Given the description of an element on the screen output the (x, y) to click on. 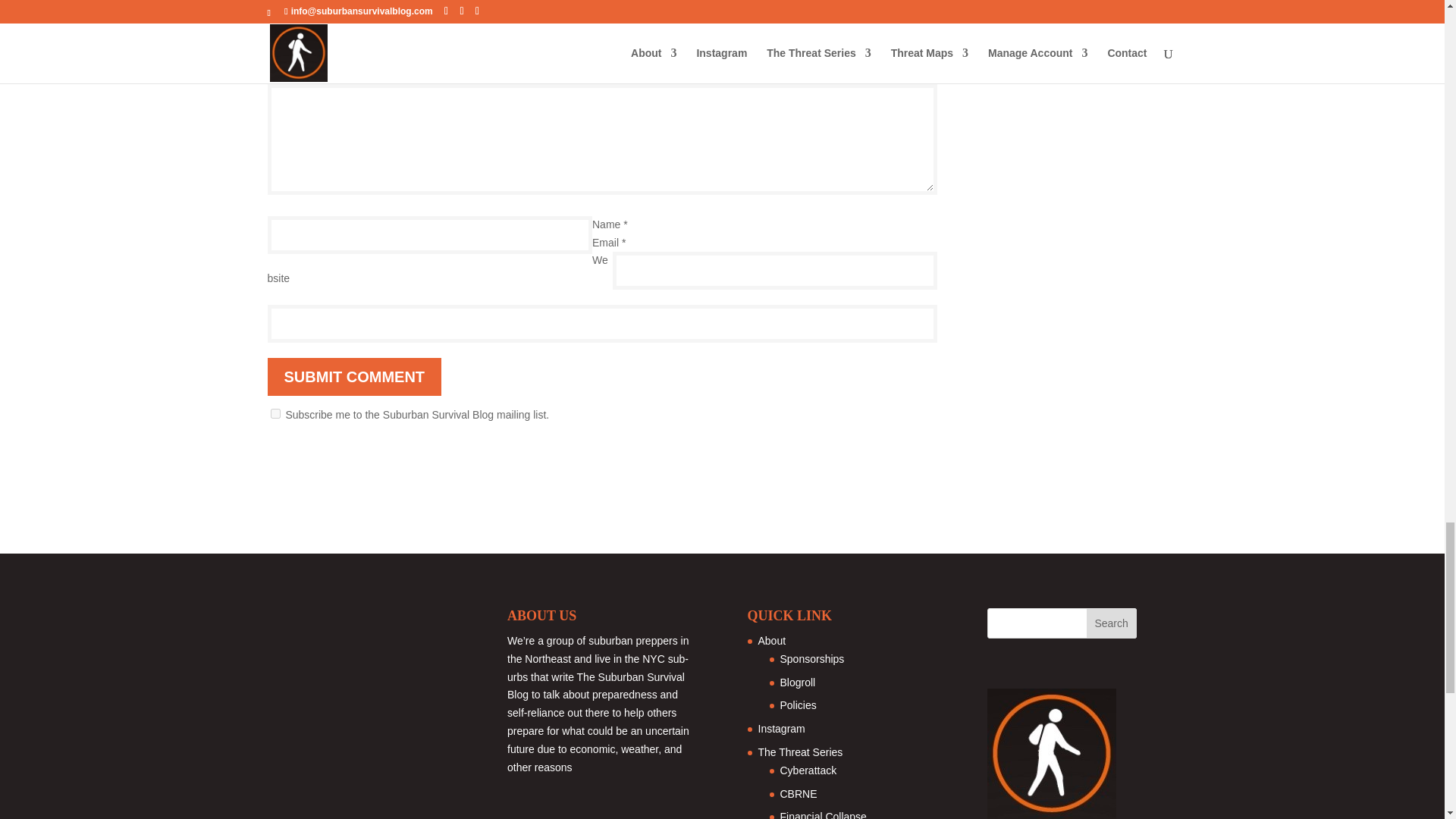
subscribe (274, 413)
Search (1111, 623)
Submit Comment (353, 376)
